Given the description of an element on the screen output the (x, y) to click on. 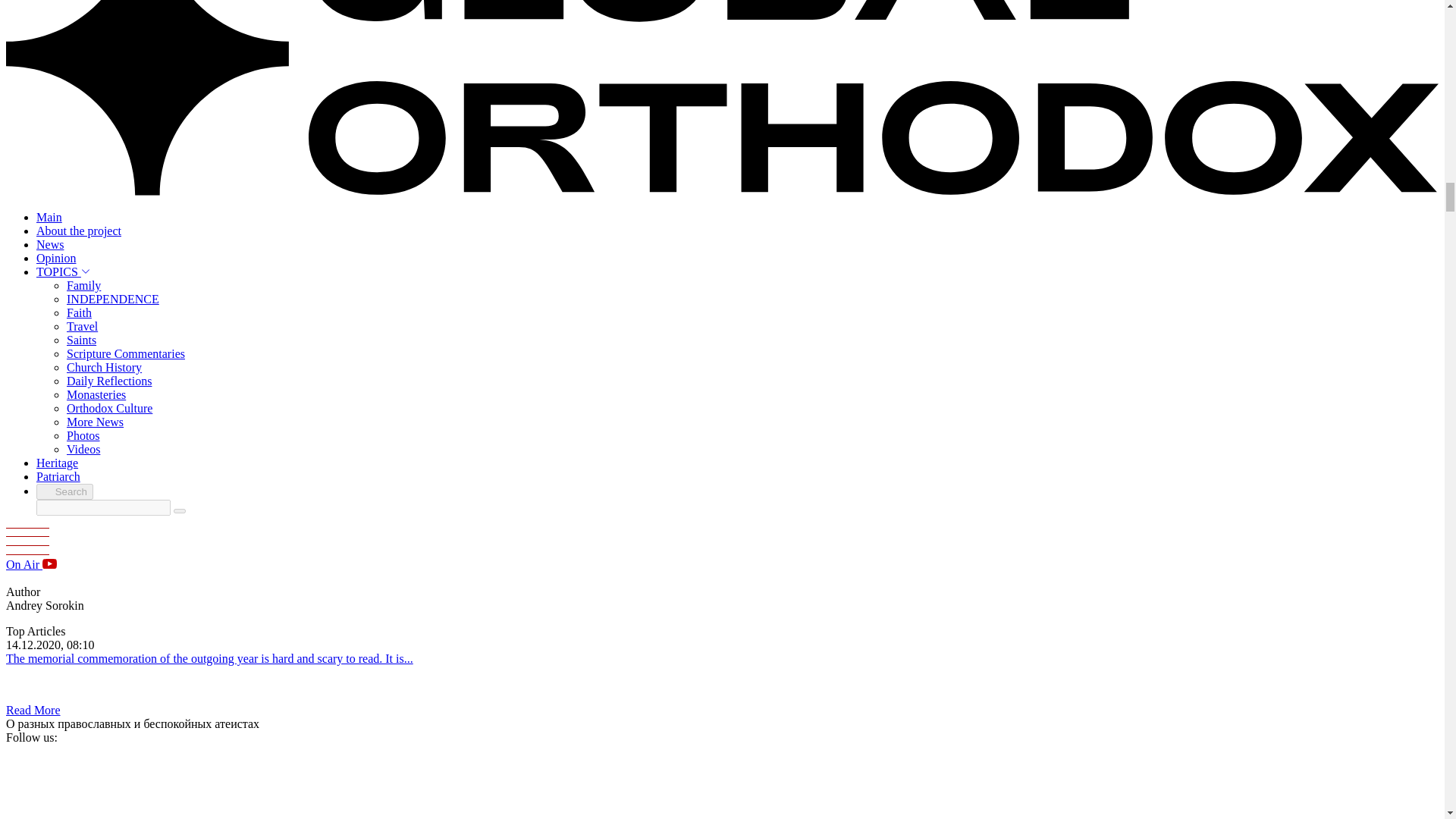
Opinion (55, 257)
Search (64, 491)
Family (83, 285)
Patriarch (58, 476)
Travel (81, 326)
Monasteries (95, 394)
Main (49, 216)
Videos (83, 449)
Read More (33, 709)
Scripture Commentaries (125, 353)
Photos (83, 435)
Church History (103, 367)
More News (94, 421)
News (50, 244)
Faith (78, 312)
